Given the description of an element on the screen output the (x, y) to click on. 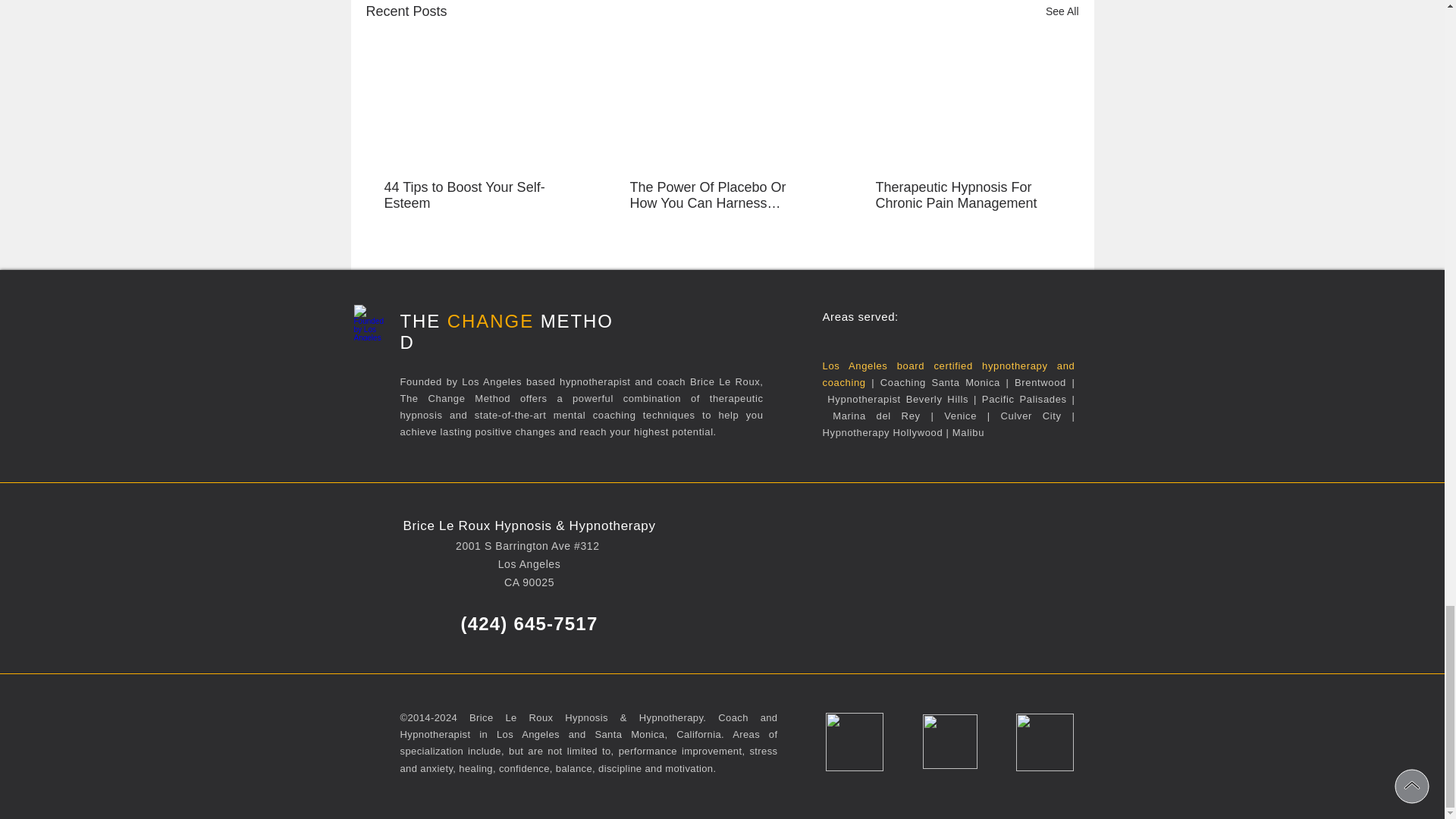
Therapeutic Hypnosis For Chronic Pain Management (966, 195)
See All (1061, 11)
44 Tips to Boost Your Self-Esteem (475, 195)
